Given the description of an element on the screen output the (x, y) to click on. 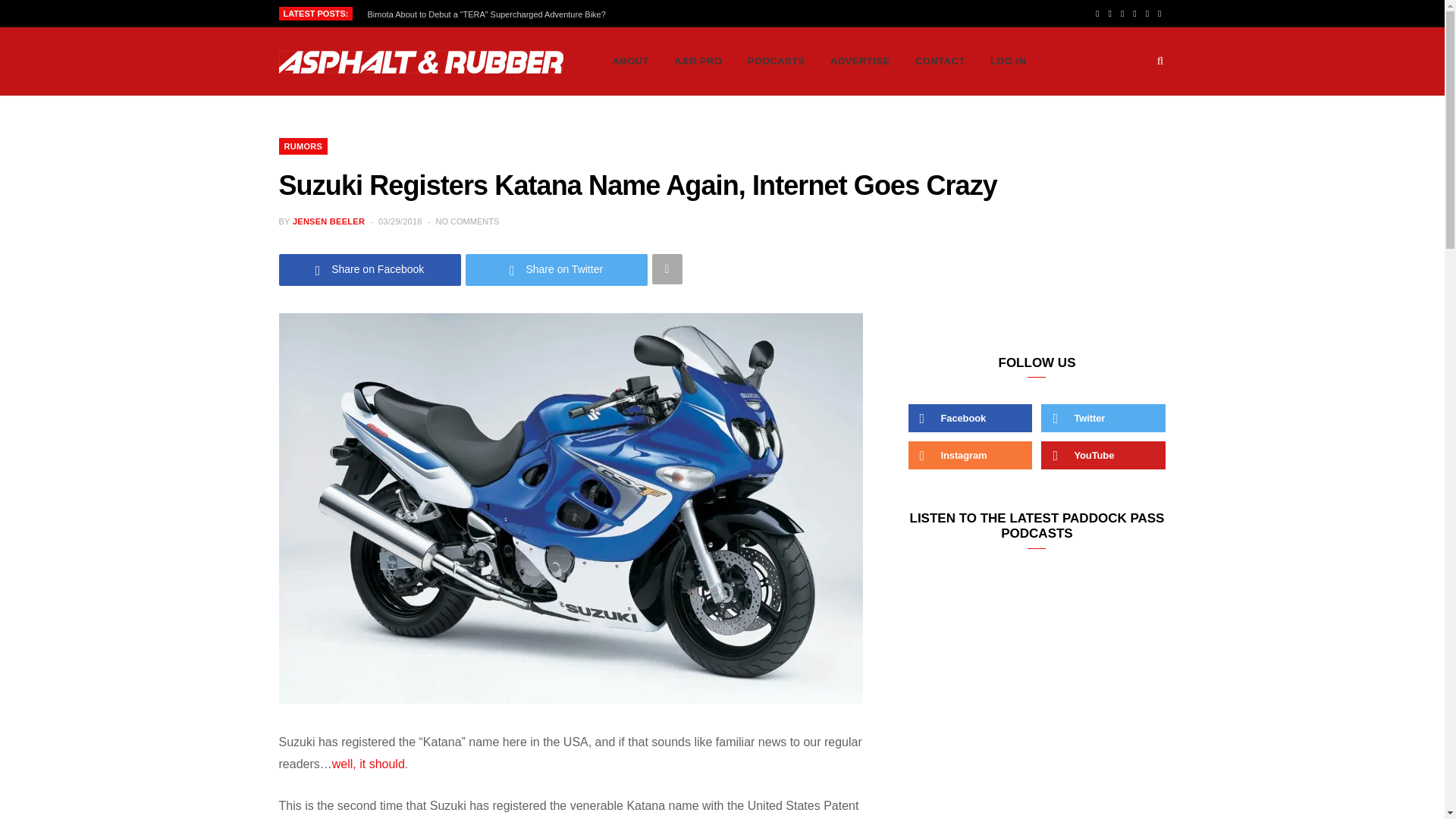
Share on Facebook (370, 269)
Share on Twitter (556, 269)
Share on Twitter (556, 269)
JENSEN BEELER (328, 221)
PODCASTS (776, 61)
ADVERTISE (859, 61)
CONTACT (940, 61)
RUMORS (304, 146)
well, it should (367, 763)
Posts by Jensen Beeler (328, 221)
NO COMMENTS (467, 221)
Share on Facebook (370, 269)
